Given the description of an element on the screen output the (x, y) to click on. 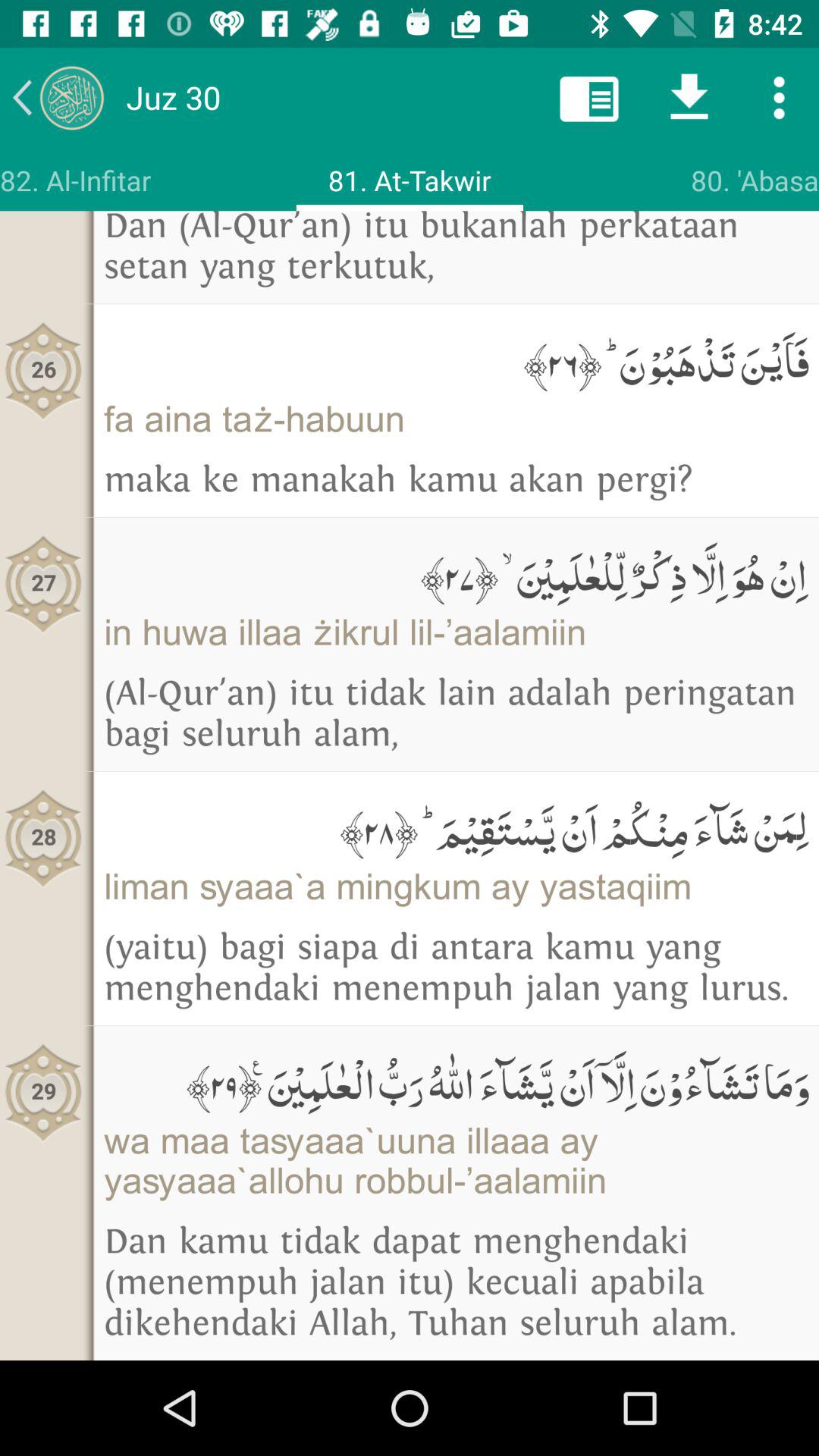
select icon next to 28 item (456, 826)
